Given the description of an element on the screen output the (x, y) to click on. 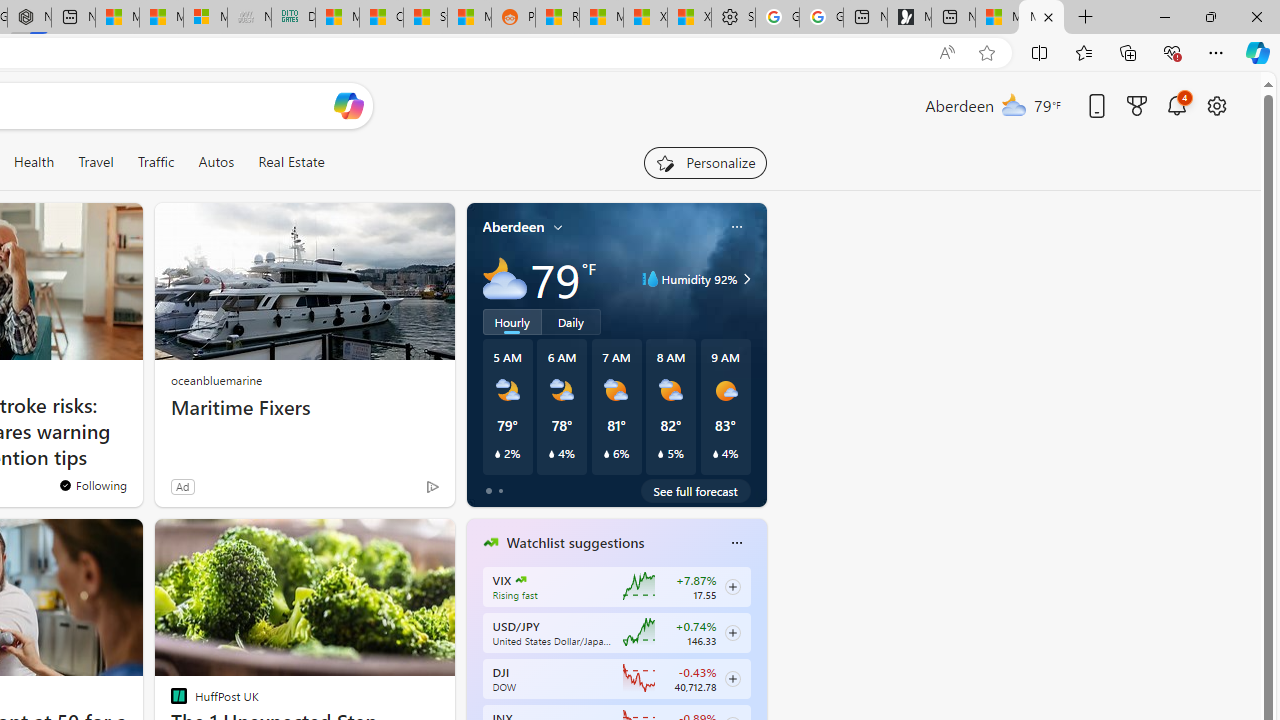
See full forecast (695, 490)
Mostly cloudy (504, 278)
Traffic (155, 161)
